Given the description of an element on the screen output the (x, y) to click on. 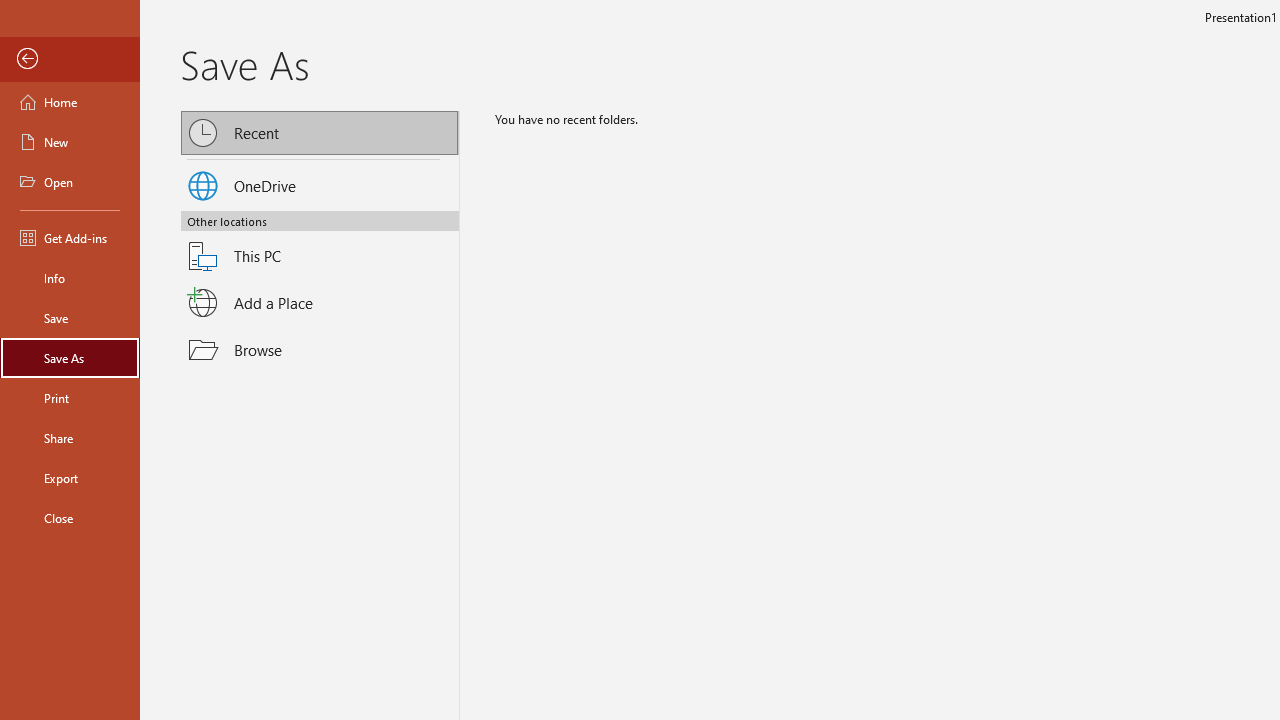
Recent (319, 132)
Info (69, 277)
Browse (319, 350)
Export (69, 477)
New (69, 141)
Save As (69, 357)
OneDrive (319, 182)
Add a Place (319, 302)
